Given the description of an element on the screen output the (x, y) to click on. 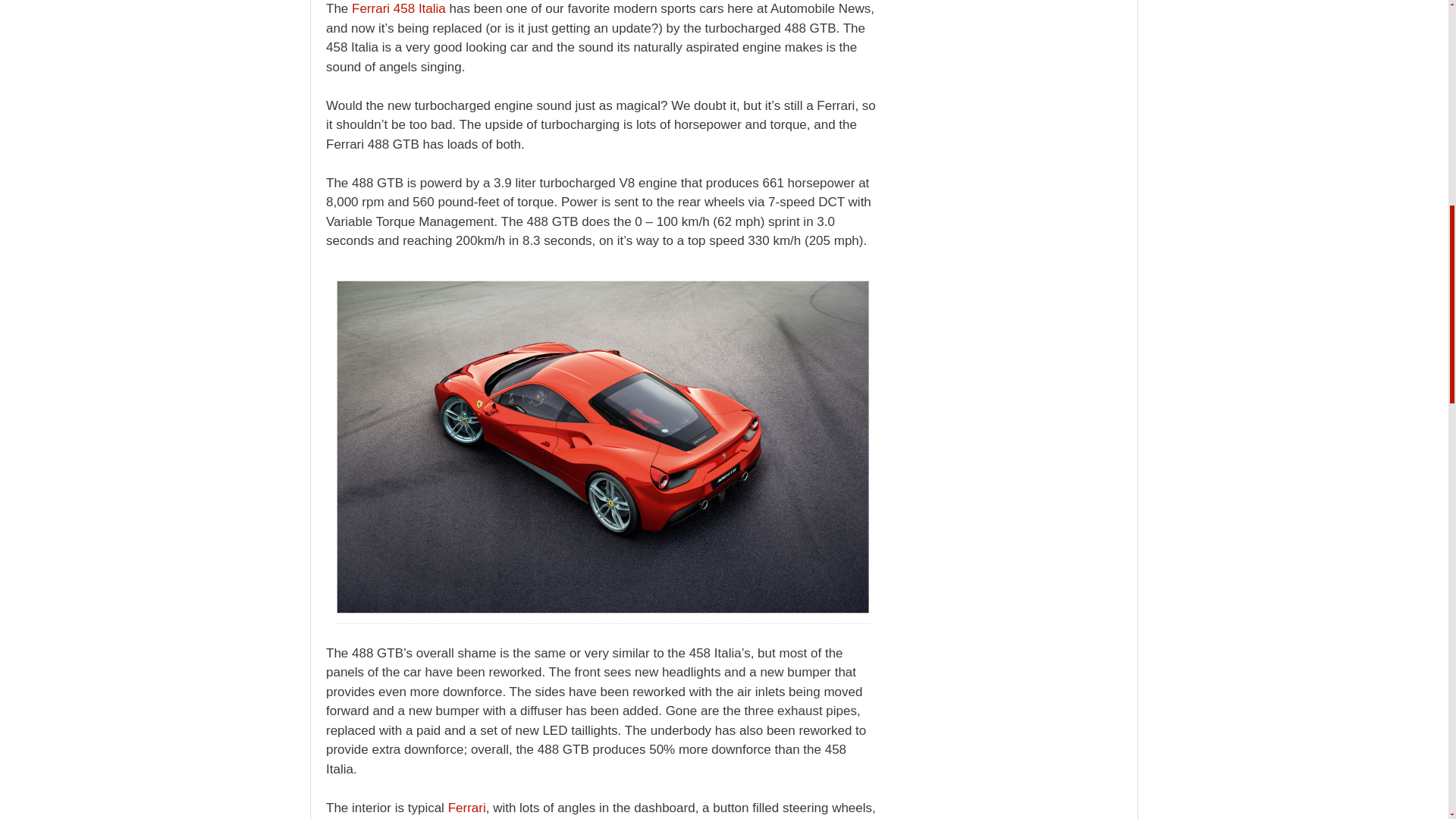
Ferrari 458 Italia (398, 8)
Ferrari (467, 807)
